Given the description of an element on the screen output the (x, y) to click on. 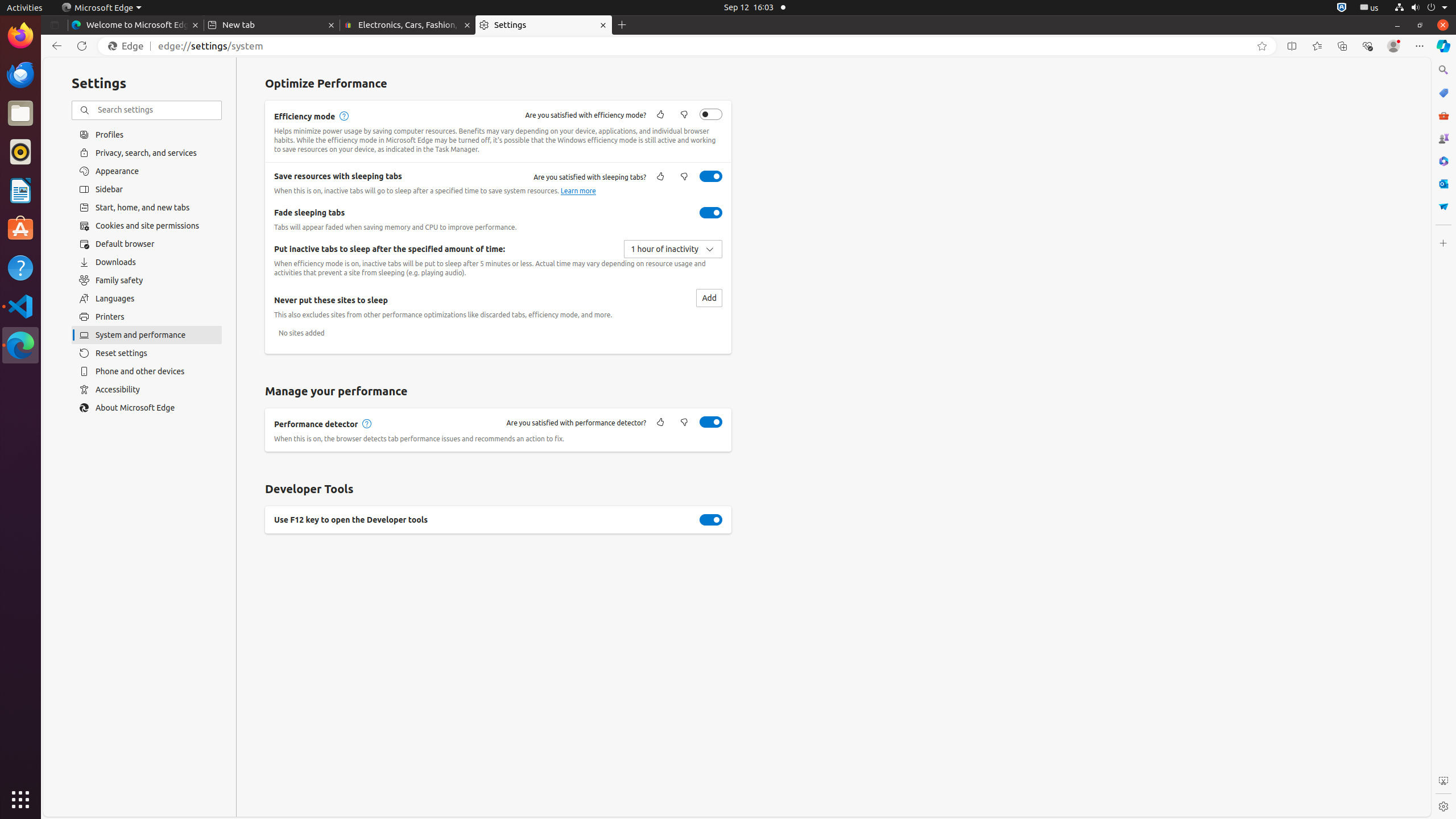
:1.72/StatusNotifierItem Element type: menu (1341, 7)
LibreOffice Writer Element type: push-button (20, 190)
New tab Element type: page-tab (271, 25)
Efficiency mode Element type: check-box (710, 114)
Collections Element type: push-button (1341, 45)
